Given the description of an element on the screen output the (x, y) to click on. 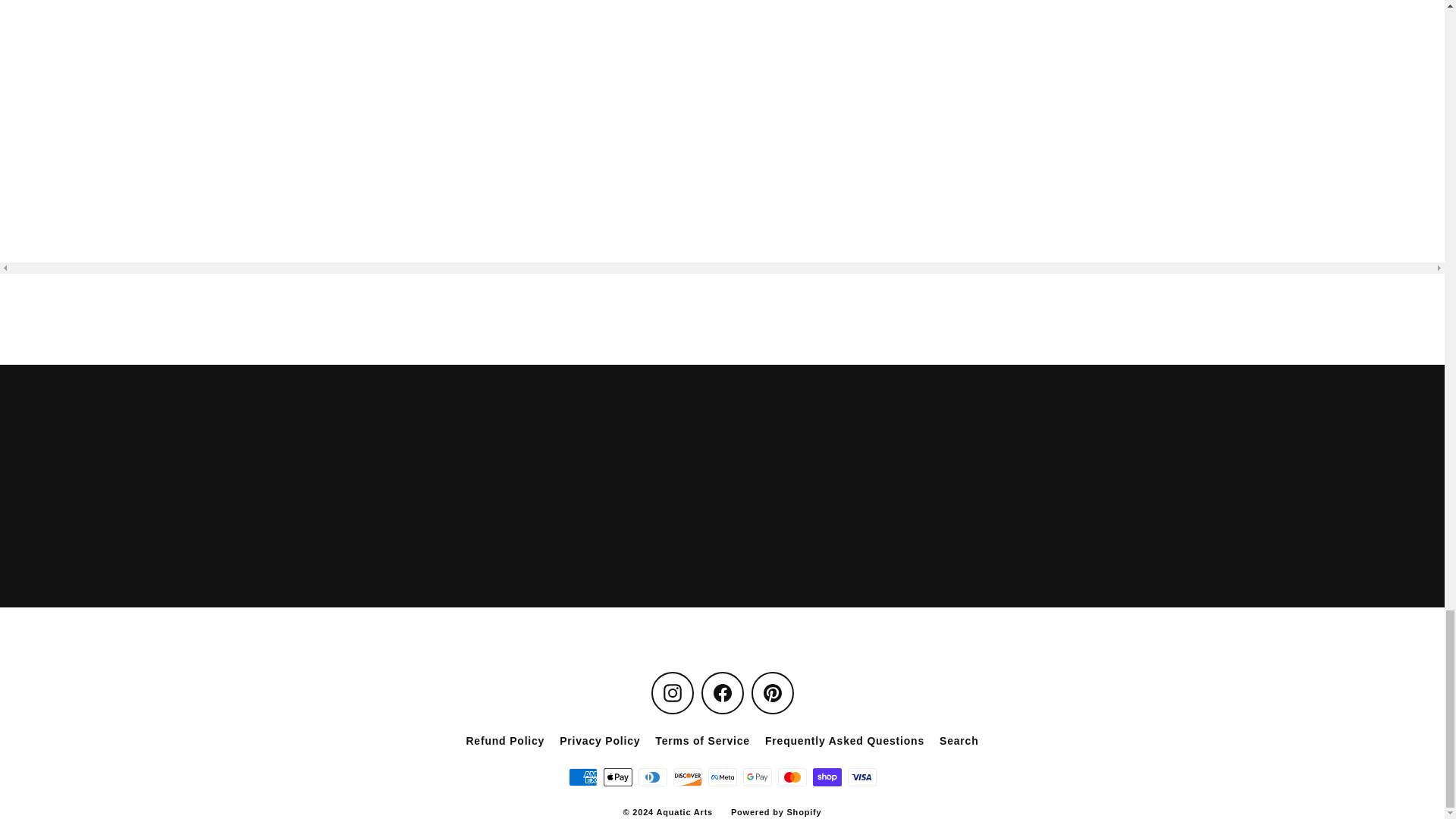
Shop Pay (826, 777)
American Express (582, 777)
Meta Pay (721, 777)
Aquatic Arts on Facebook (721, 692)
Aquatic Arts on Pinterest (772, 692)
Apple Pay (617, 777)
Mastercard (791, 777)
Discover (686, 777)
Diners Club (652, 777)
Aquatic Arts on Instagram (671, 692)
